Given the description of an element on the screen output the (x, y) to click on. 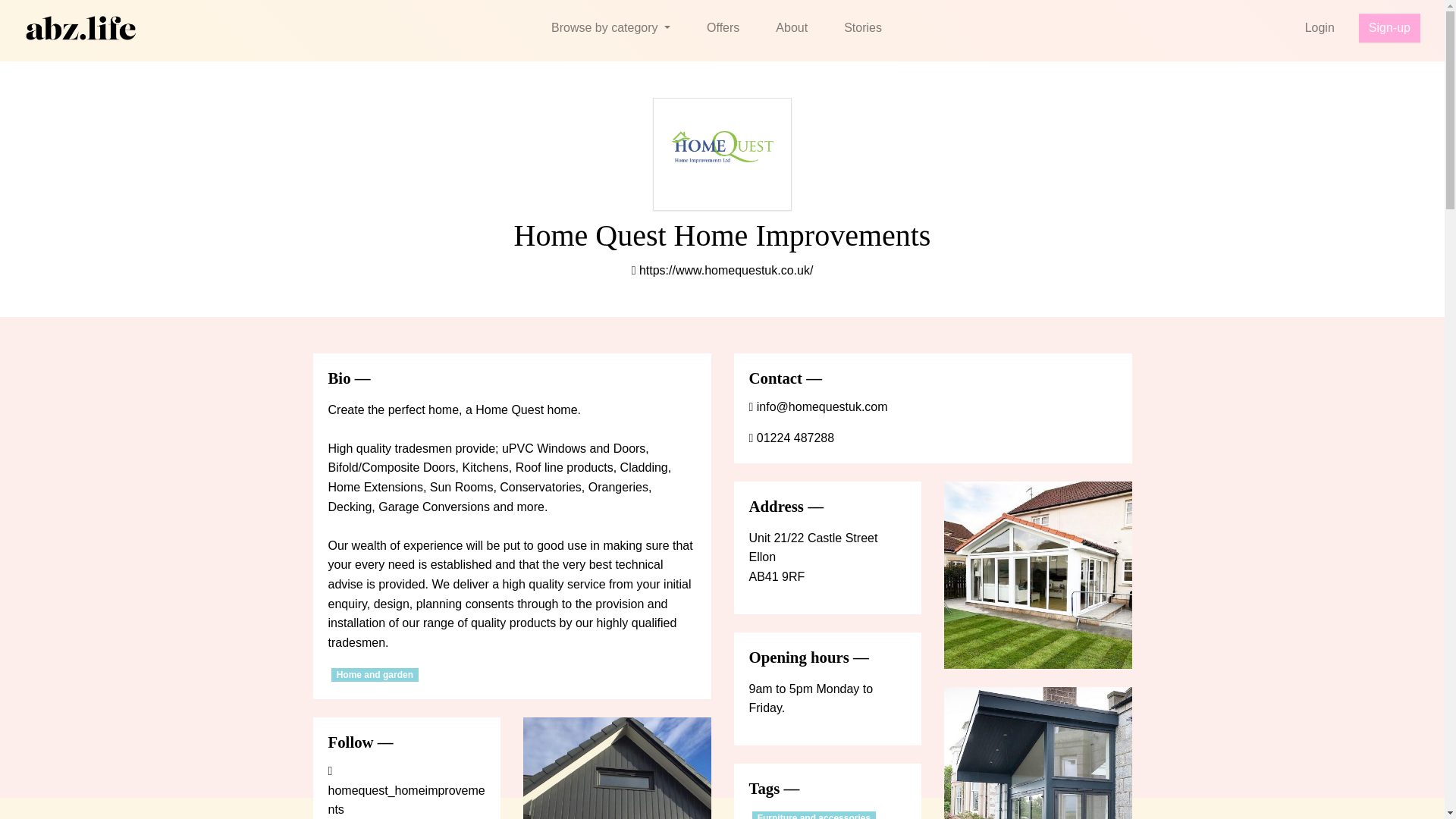
Browse by category (610, 28)
Home and garden (374, 674)
01224 487288 (791, 437)
Stories (862, 28)
Login (1319, 28)
Offers (722, 28)
About (791, 28)
Sign-up (1389, 27)
Furniture and accessories (814, 815)
